Given the description of an element on the screen output the (x, y) to click on. 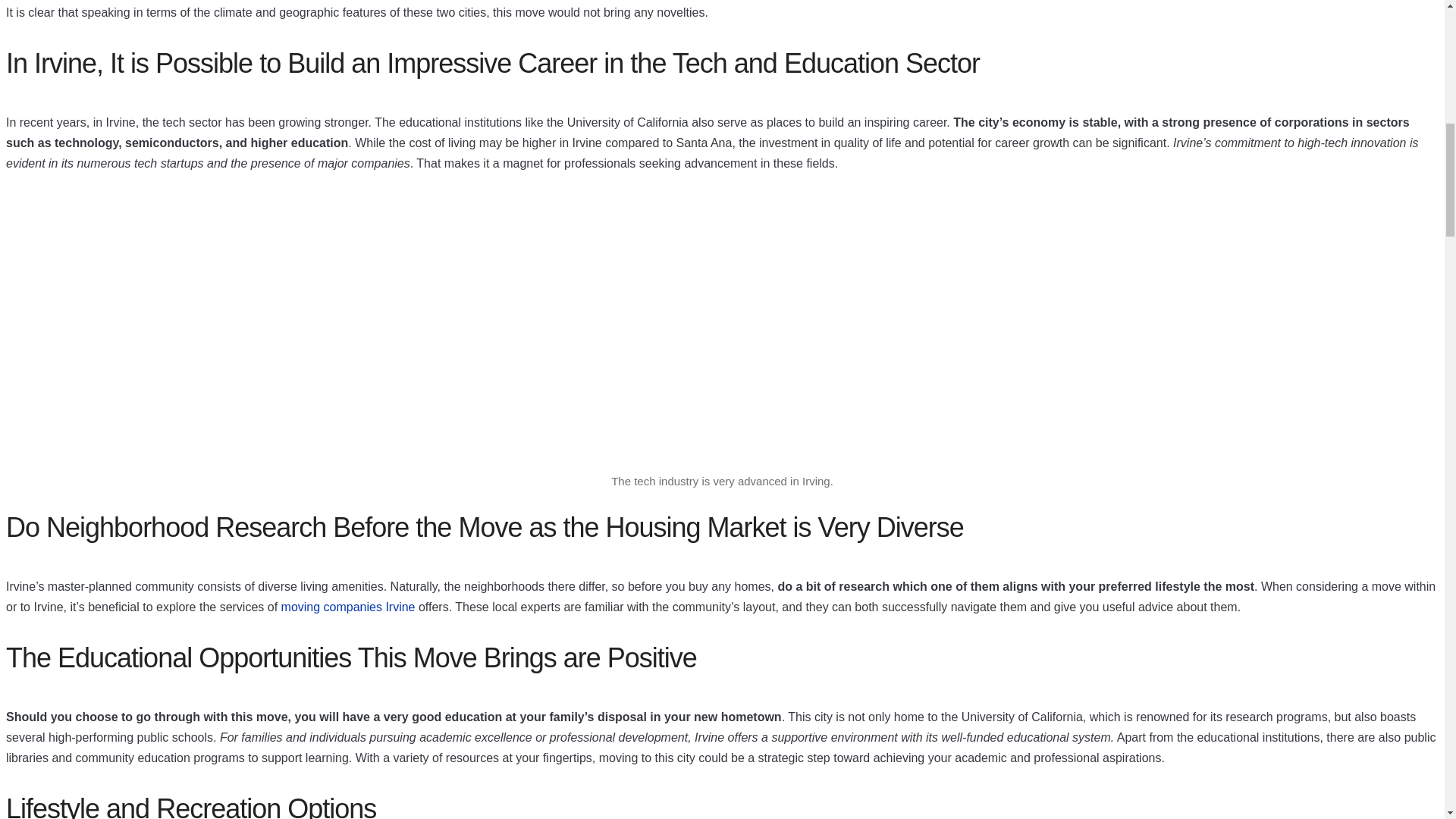
moving companies Irvine (347, 606)
